Given the description of an element on the screen output the (x, y) to click on. 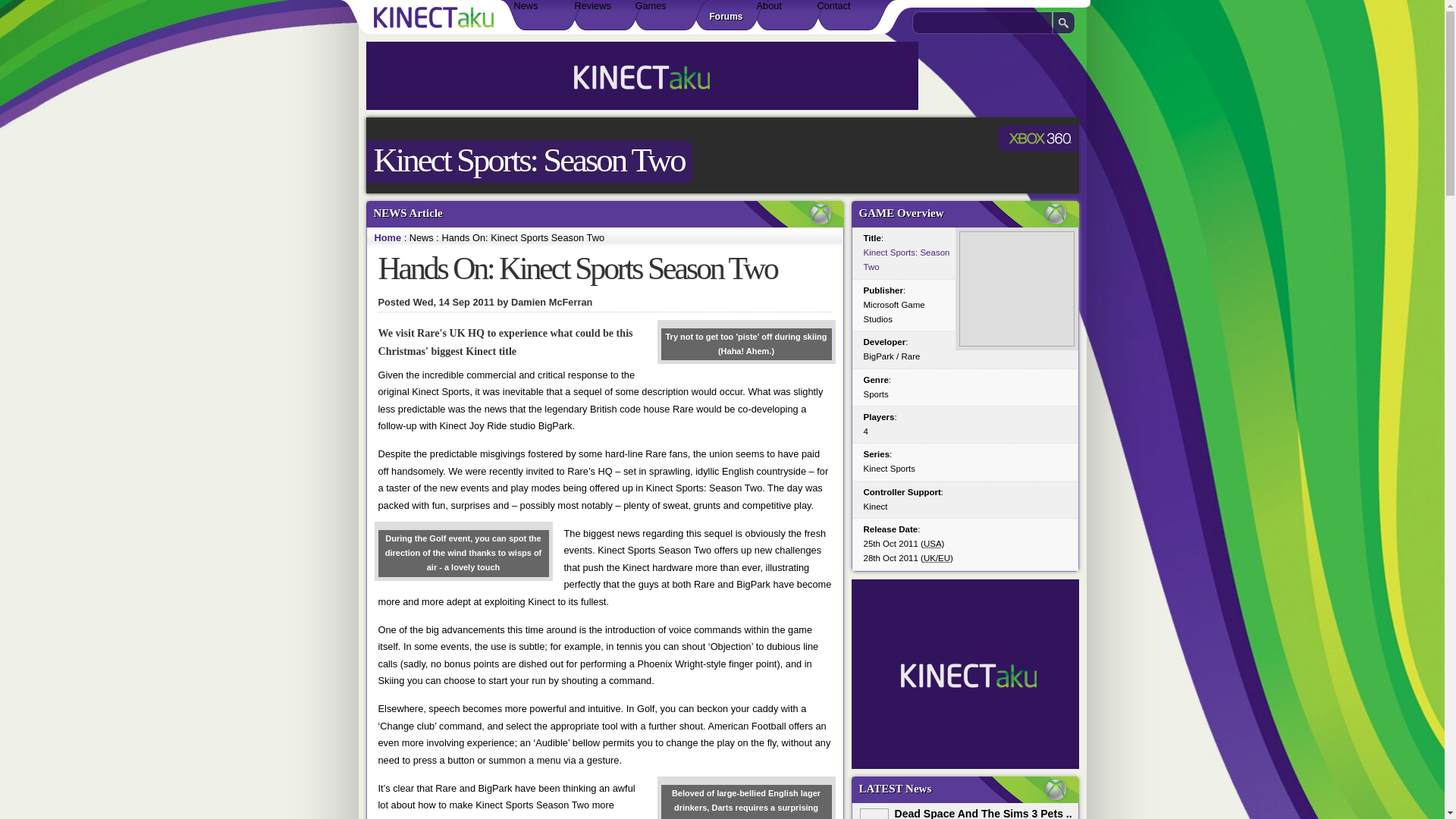
Kinect Sports: Season Two (528, 159)
Kinect Sports: Season Two (906, 259)
Home (387, 237)
Kinect Sports: Season Two (528, 159)
Forums (726, 15)
News Article (606, 213)
KINECTaku (435, 17)
Home (387, 237)
Xbox 360 (1037, 138)
